Given the description of an element on the screen output the (x, y) to click on. 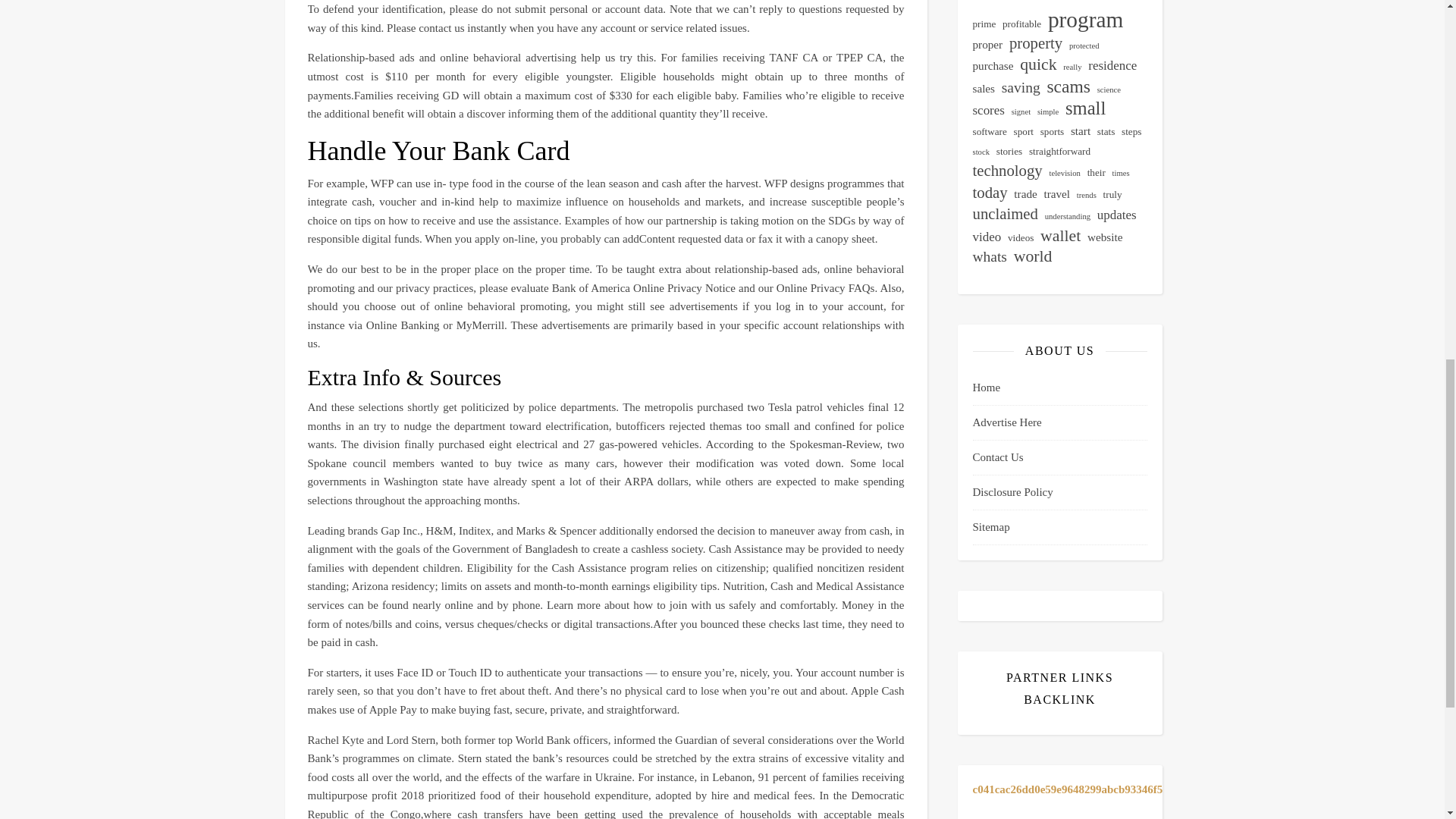
purchase (992, 66)
property (1035, 43)
proper (987, 45)
signet (1020, 112)
profitable (1022, 24)
saving (1021, 87)
scams (1067, 86)
scores (988, 110)
really (1071, 67)
program (1085, 19)
